Given the description of an element on the screen output the (x, y) to click on. 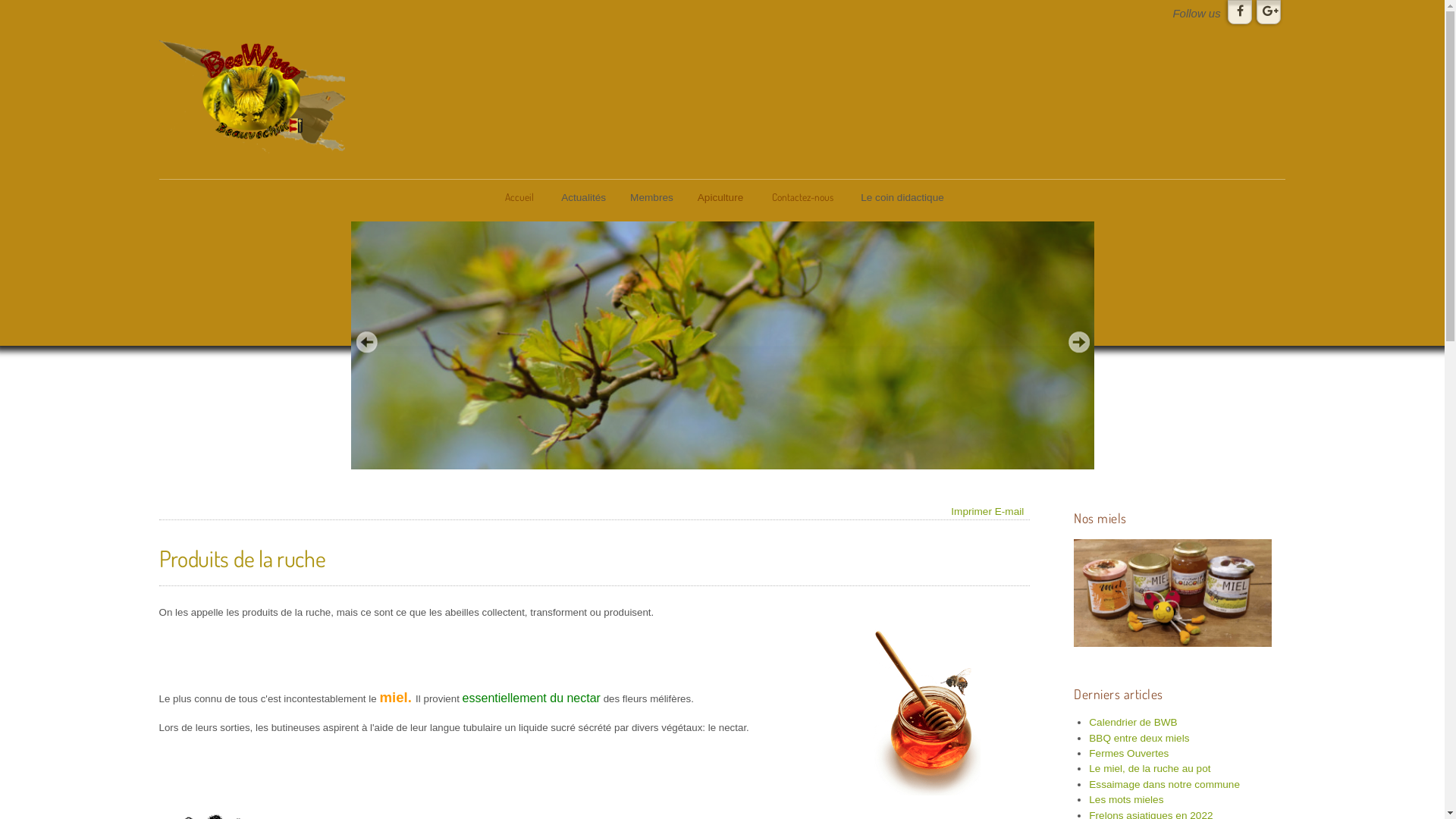
> Element type: text (1078, 341)
E-mail Element type: text (1009, 511)
Contactez-nous Element type: text (801, 196)
Le miel, de la ruche au pot Element type: text (1149, 768)
Calendrier de BWB Element type: text (1132, 722)
Accueil Element type: text (518, 196)
essentiellement du nectar Element type: text (531, 697)
< Element type: text (365, 341)
Fermes Ouvertes Element type: text (1128, 753)
Google Element type: hover (1268, 12)
Les mots mieles Element type: text (1125, 799)
Essaimage dans notre commune Element type: text (1163, 784)
BBQ entre deux miels Element type: text (1138, 737)
Facebook Element type: hover (1239, 12)
Imprimer Element type: text (970, 511)
